Given the description of an element on the screen output the (x, y) to click on. 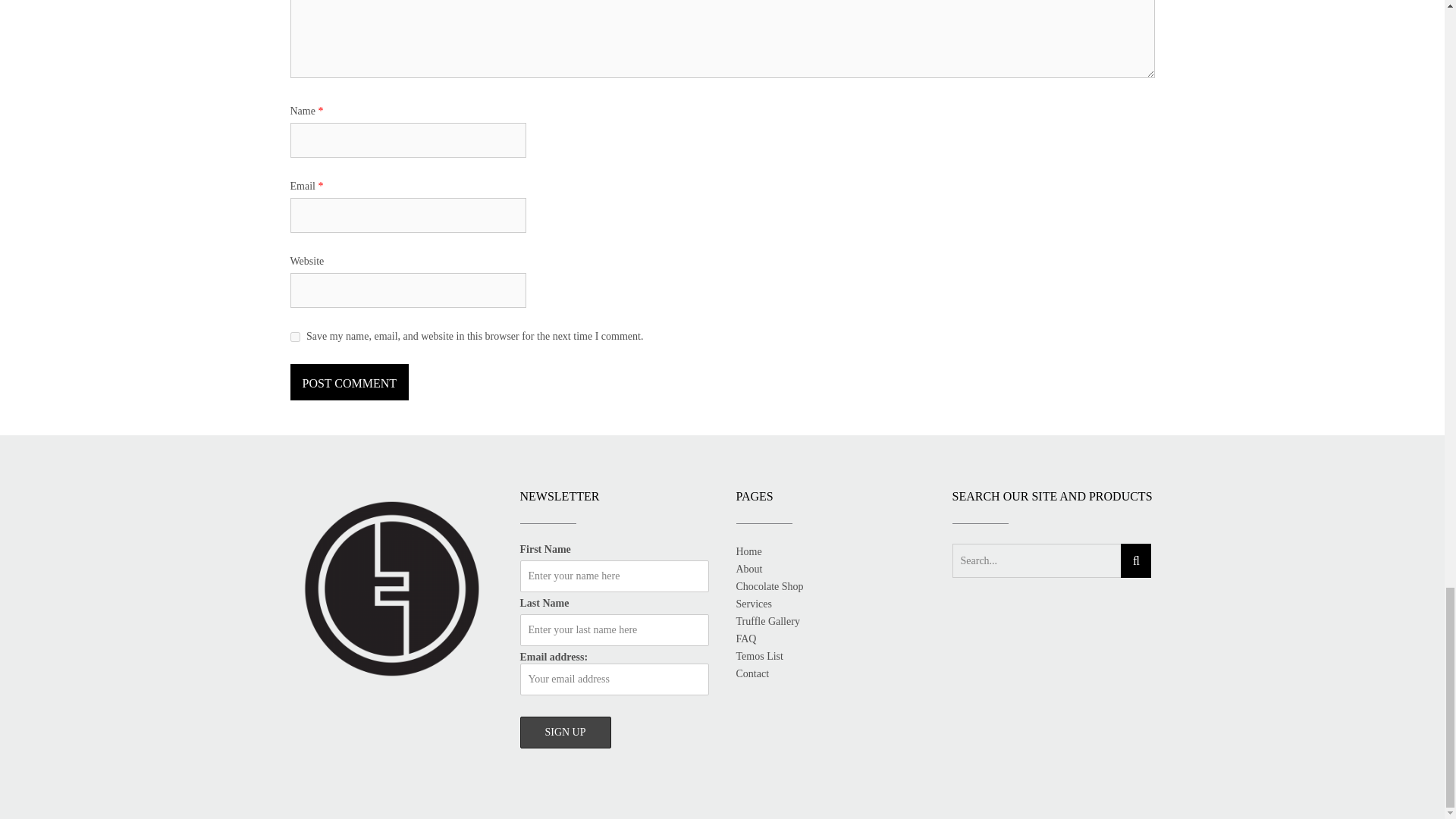
Temos List (759, 655)
yes (294, 337)
Services (753, 603)
Home (748, 551)
Truffle Gallery (767, 621)
Contact (751, 673)
FAQ (745, 638)
Search for: (1036, 560)
Sign up (565, 732)
Sign up (565, 732)
Post Comment (349, 381)
Post Comment (349, 381)
Chocolate Shop (769, 586)
About (748, 568)
